Given the description of an element on the screen output the (x, y) to click on. 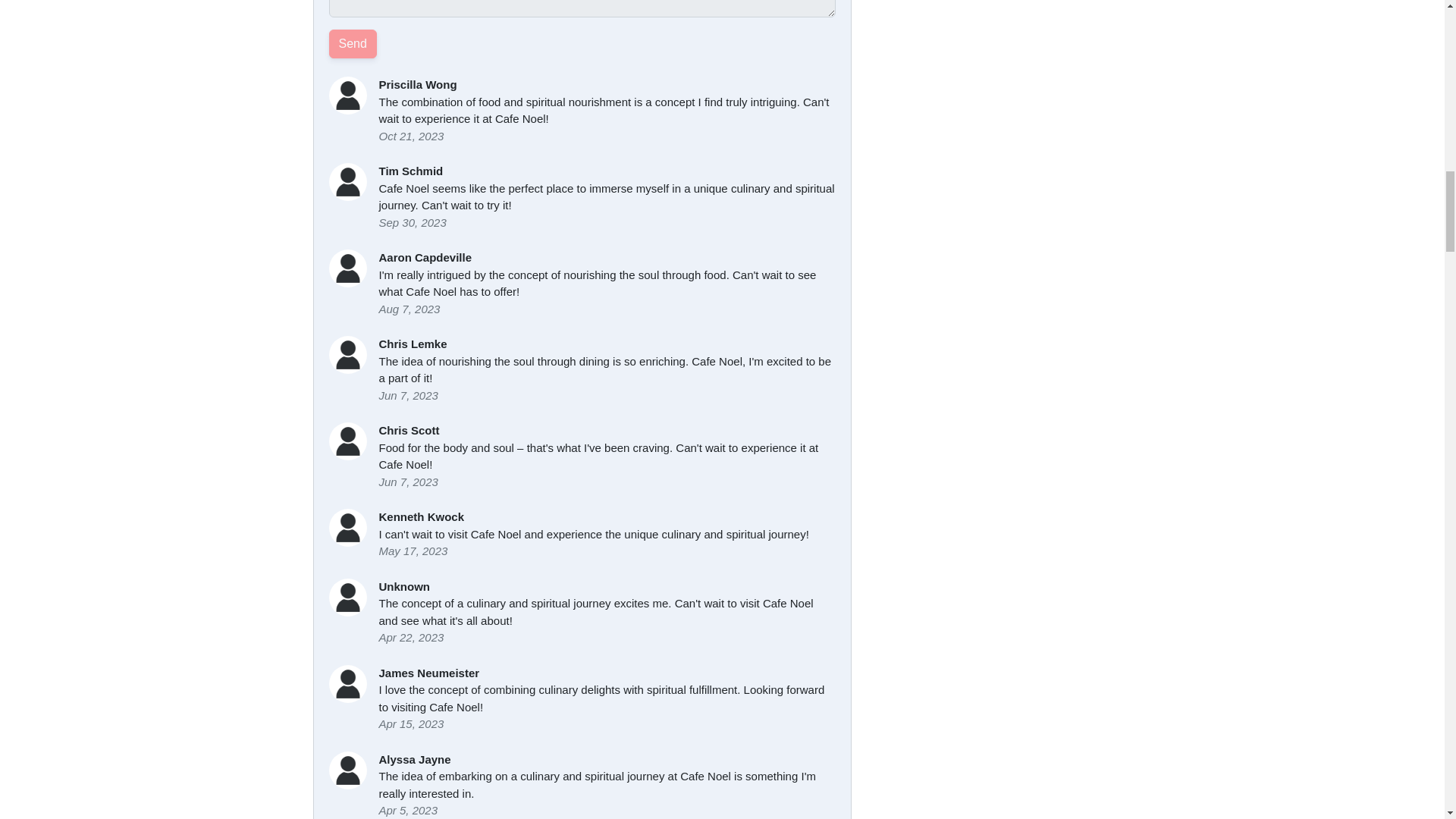
Send (353, 43)
Send (353, 43)
